Given the description of an element on the screen output the (x, y) to click on. 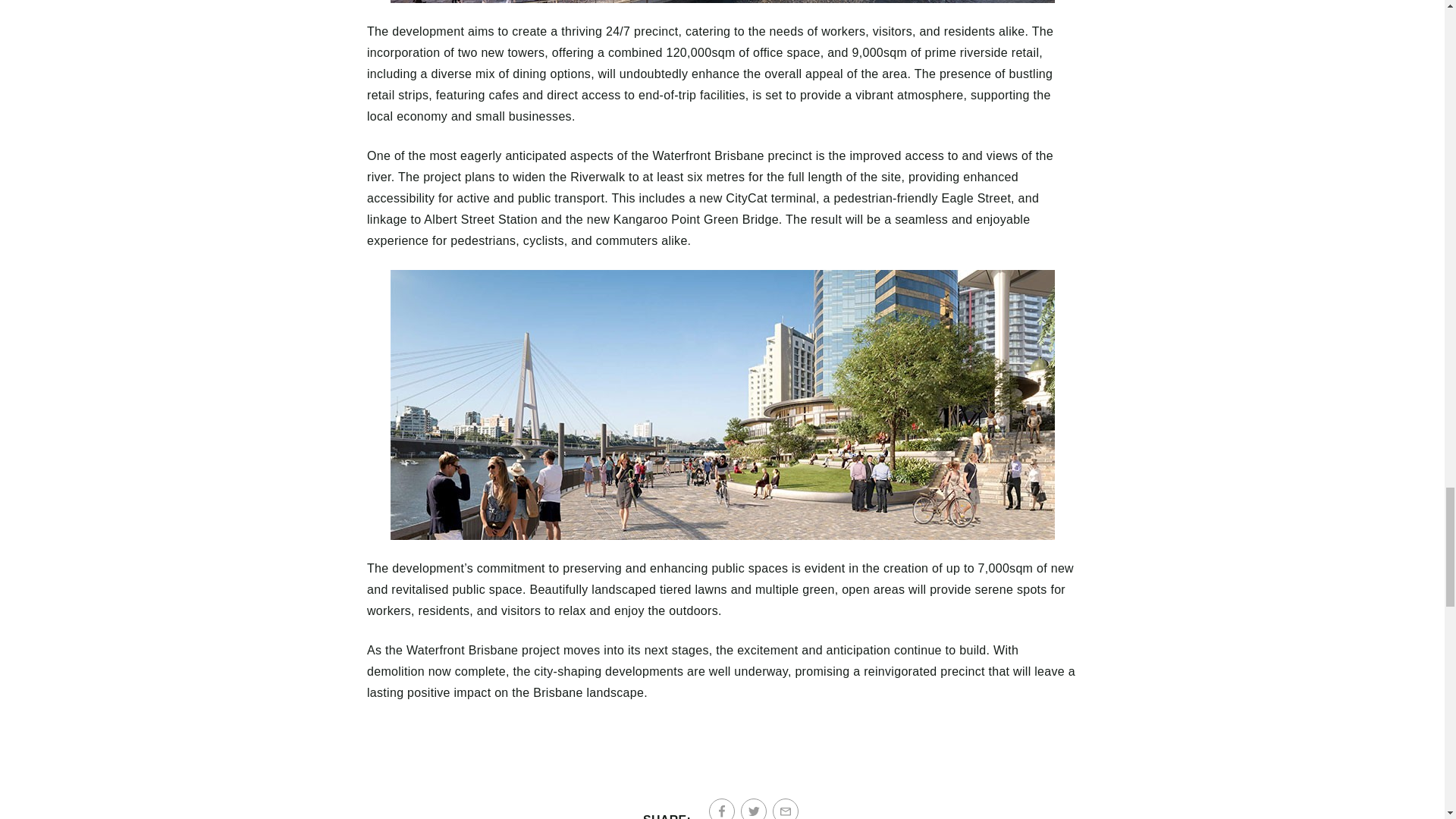
Twitter (754, 808)
Email (785, 808)
Facebook (722, 808)
